Given the description of an element on the screen output the (x, y) to click on. 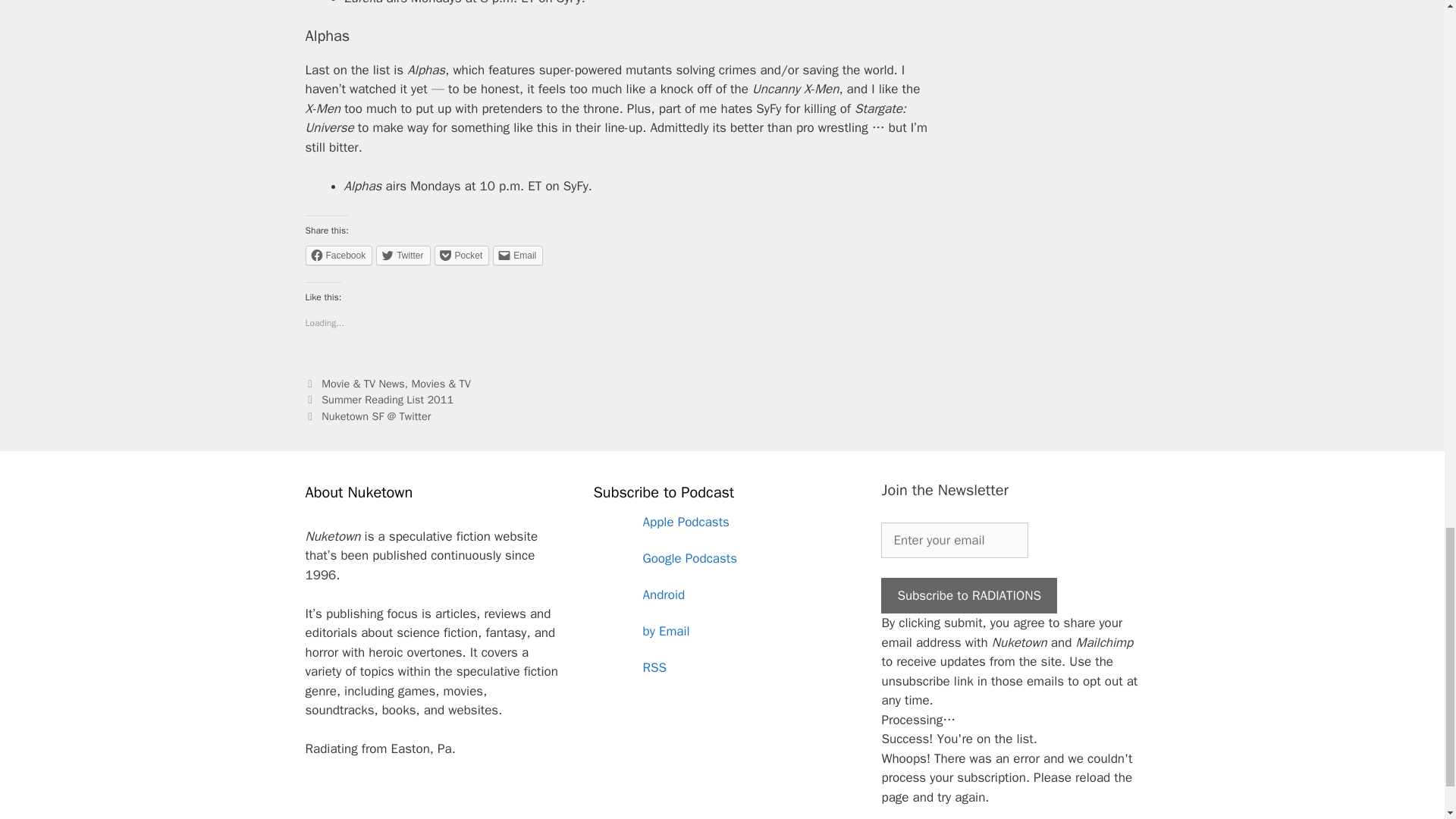
Click to share on Pocket (461, 255)
Pocket (461, 255)
Click to share on Facebook (338, 255)
Subscribe on Android (721, 595)
Enter your email (953, 540)
Twitter (402, 255)
Click to email a link to a friend (518, 255)
Subscribe via RSS (721, 668)
Subscribe by Email (721, 631)
Email (518, 255)
